Given the description of an element on the screen output the (x, y) to click on. 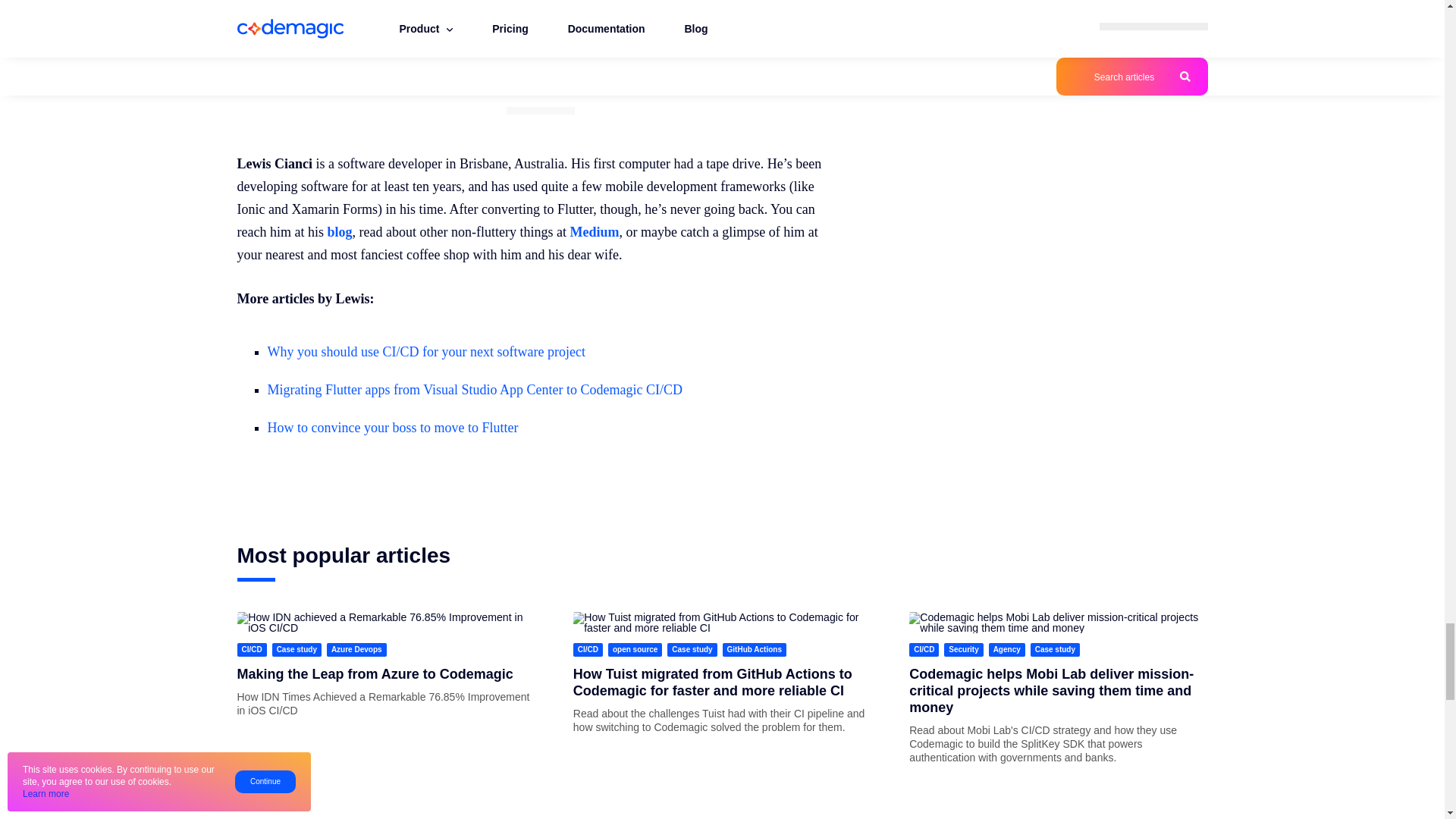
How to build Flutter apps on Codemagic (325, 34)
Making the Leap from Azure to Codemagic (384, 621)
Making the Leap from Azure to Codemagic (373, 673)
